Given the description of an element on the screen output the (x, y) to click on. 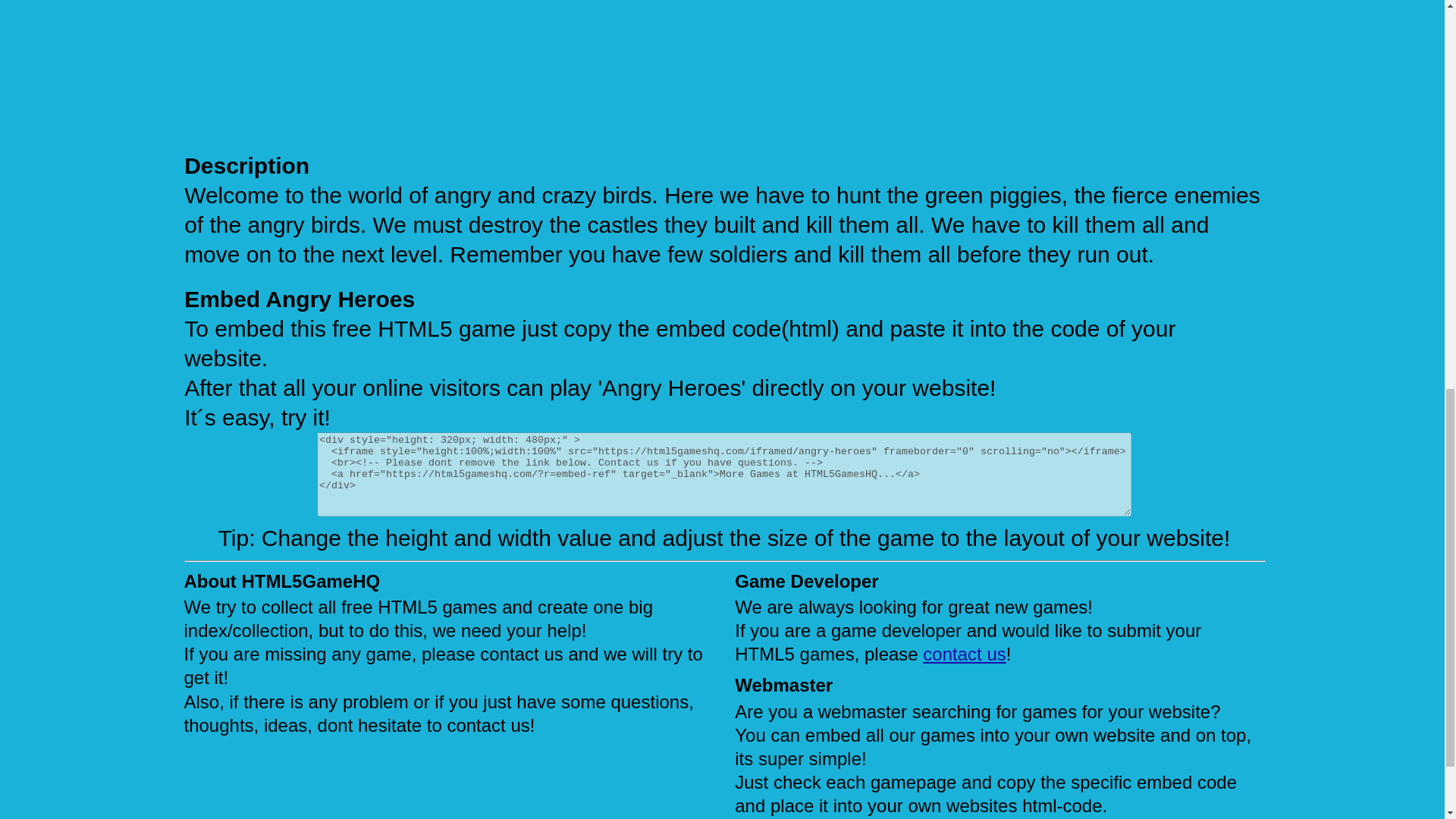
contact us (964, 653)
